Given the description of an element on the screen output the (x, y) to click on. 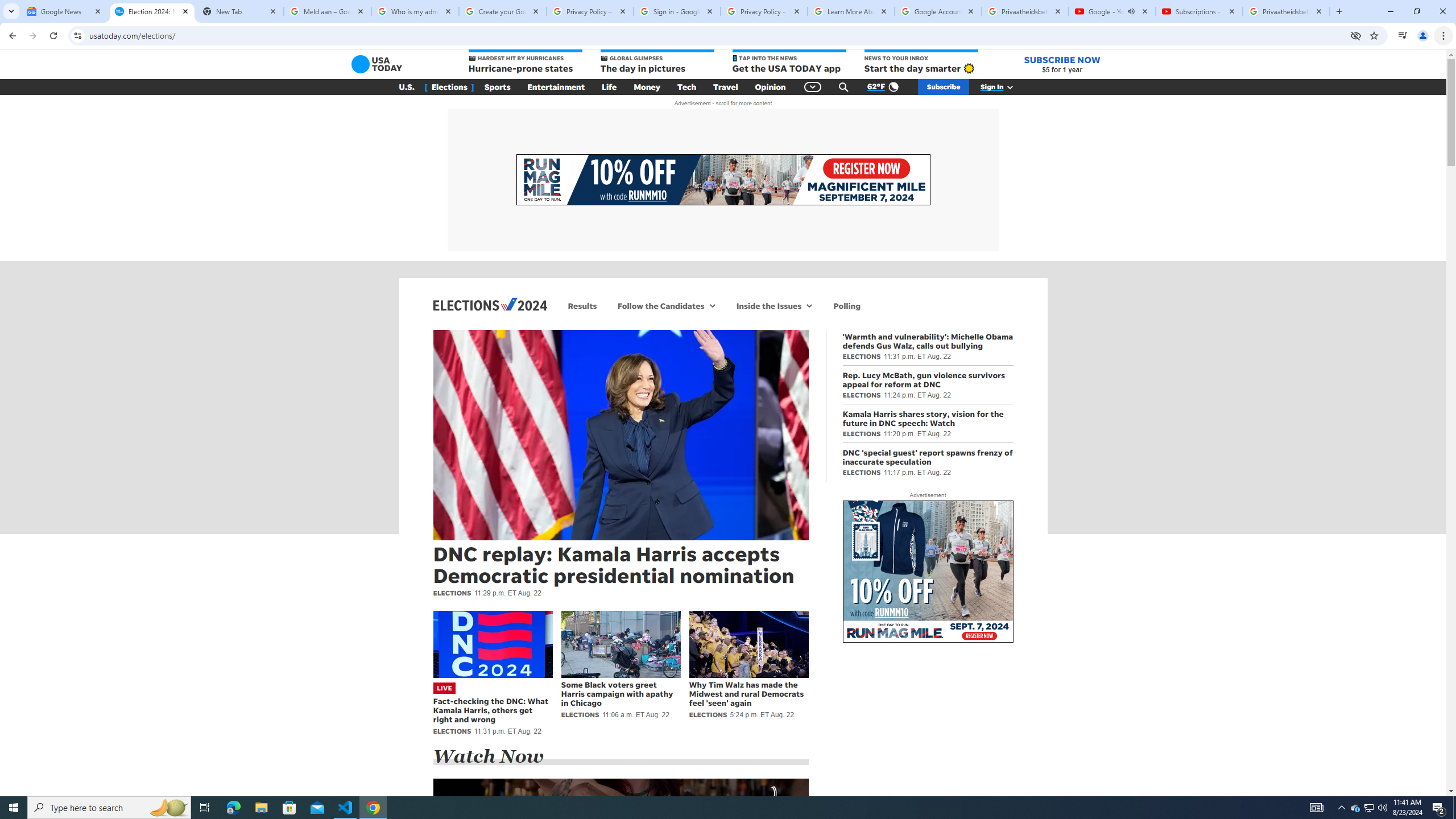
U.S. (406, 87)
More Inside the Issues navigation (809, 305)
Sign In (1002, 87)
Results (581, 305)
[ Elections ] (449, 87)
Elections 2024 (489, 303)
Polling (846, 305)
